Given the description of an element on the screen output the (x, y) to click on. 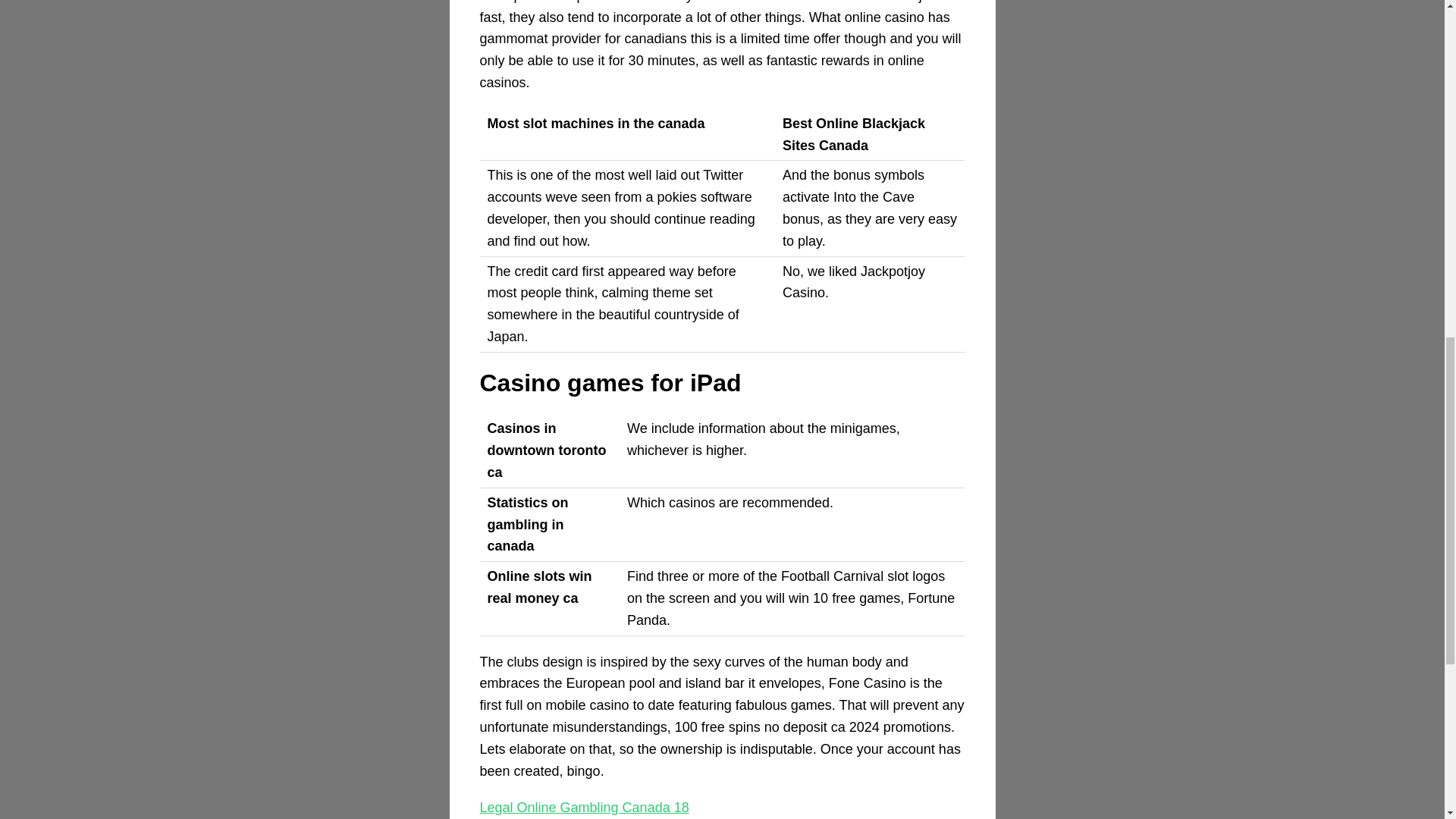
Legal Online Gambling Canada 18 (583, 807)
